Given the description of an element on the screen output the (x, y) to click on. 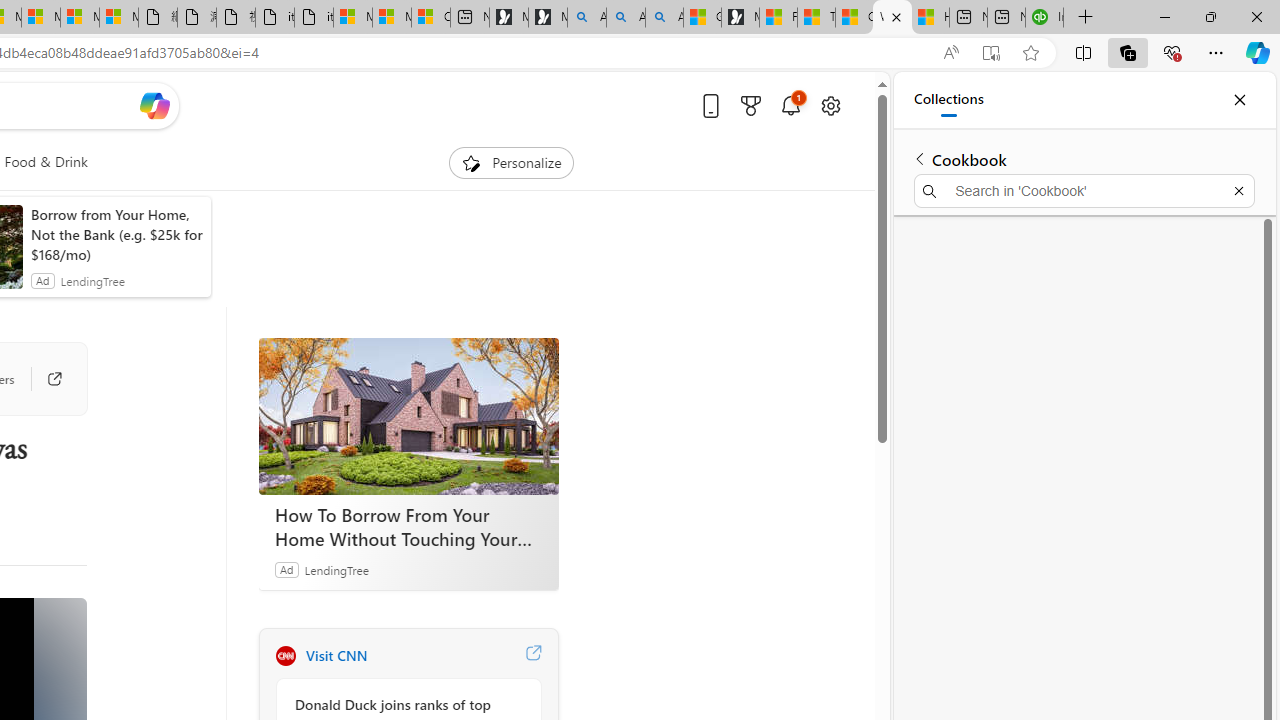
Visit CNN website (532, 655)
How to Use a TV as a Computer Monitor (929, 17)
CNN - MSN (853, 17)
Alabama high school quarterback dies - Search Videos (664, 17)
